Given the description of an element on the screen output the (x, y) to click on. 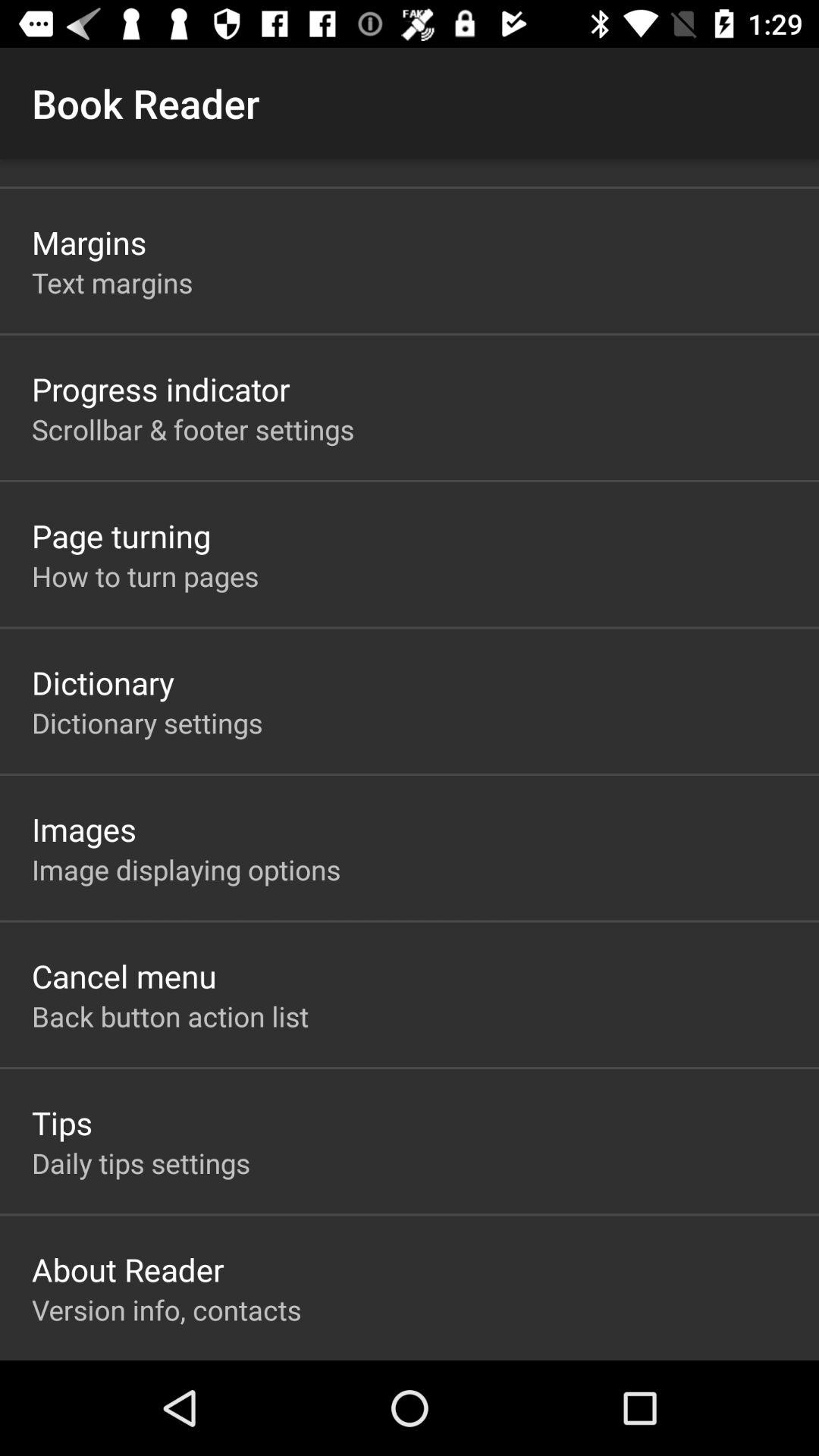
turn on the item below the margins icon (111, 282)
